Given the description of an element on the screen output the (x, y) to click on. 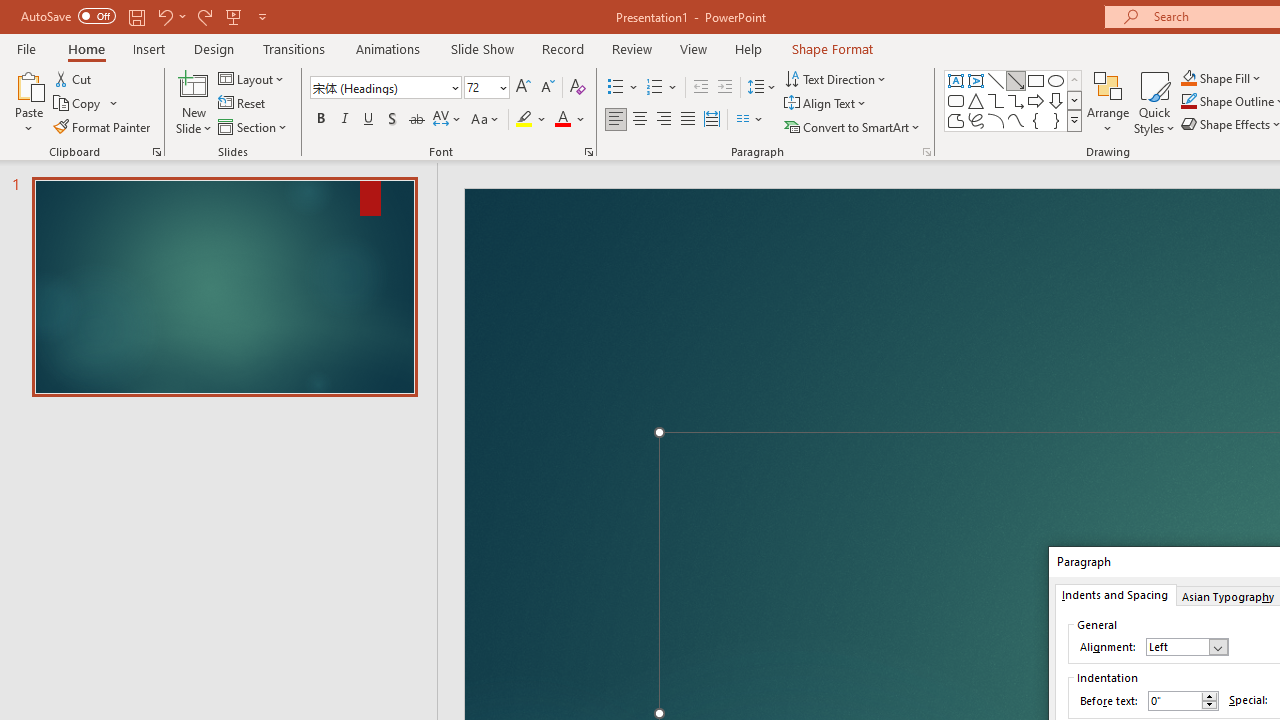
Line (995, 80)
Italic (344, 119)
Bold (320, 119)
Text Box (955, 80)
Text Highlight Color (531, 119)
Align Text (826, 103)
AutomationID: ShapesInsertGallery (1014, 100)
Paragraph... (926, 151)
Oval (1055, 80)
